Given the description of an element on the screen output the (x, y) to click on. 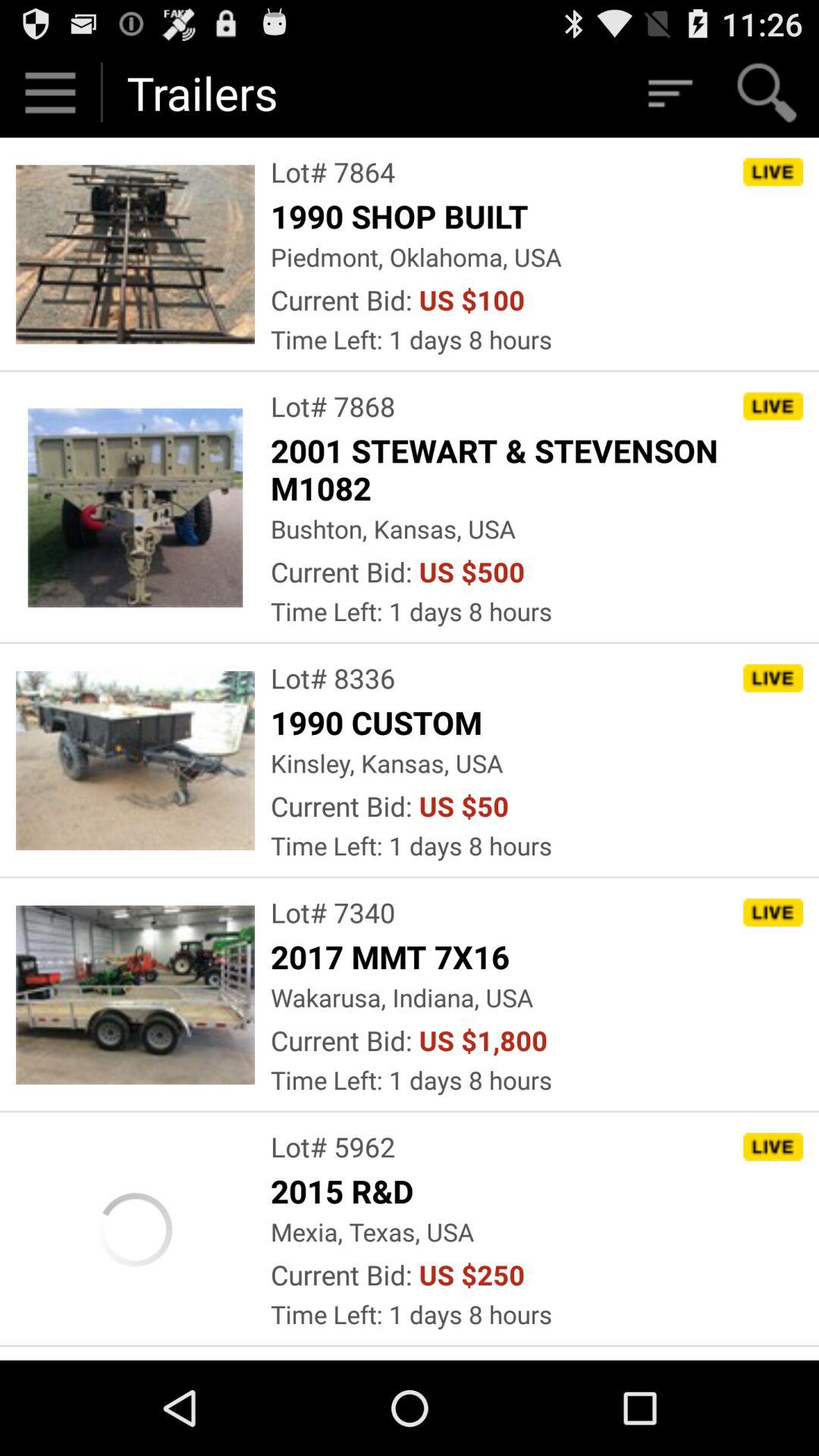
turn off the item above current bid: (415, 256)
